Given the description of an element on the screen output the (x, y) to click on. 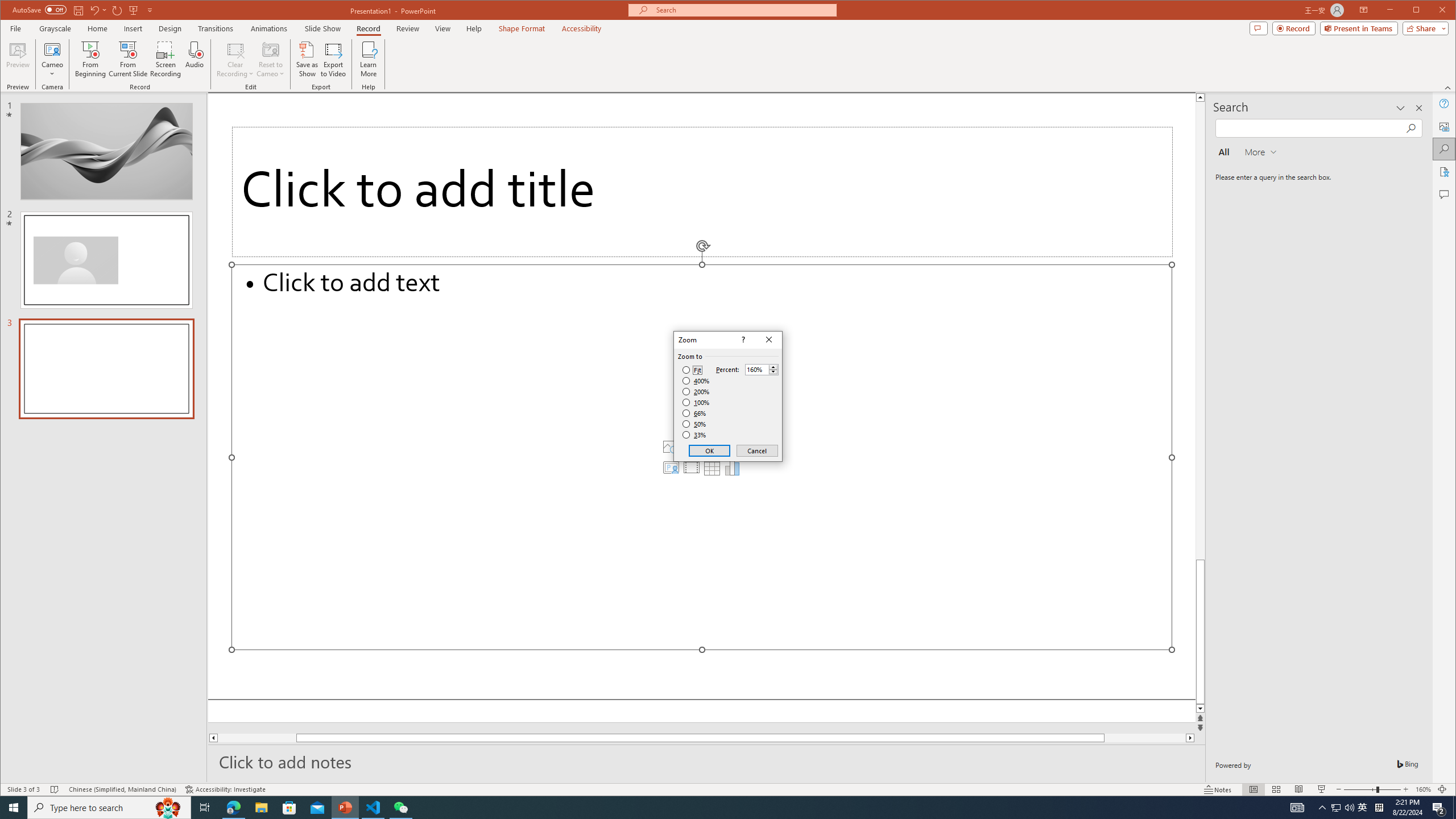
More (772, 366)
Running applications (707, 807)
66% (694, 412)
Reset to Cameo (269, 59)
Fit (691, 370)
WeChat - 1 running window (400, 807)
